Given the description of an element on the screen output the (x, y) to click on. 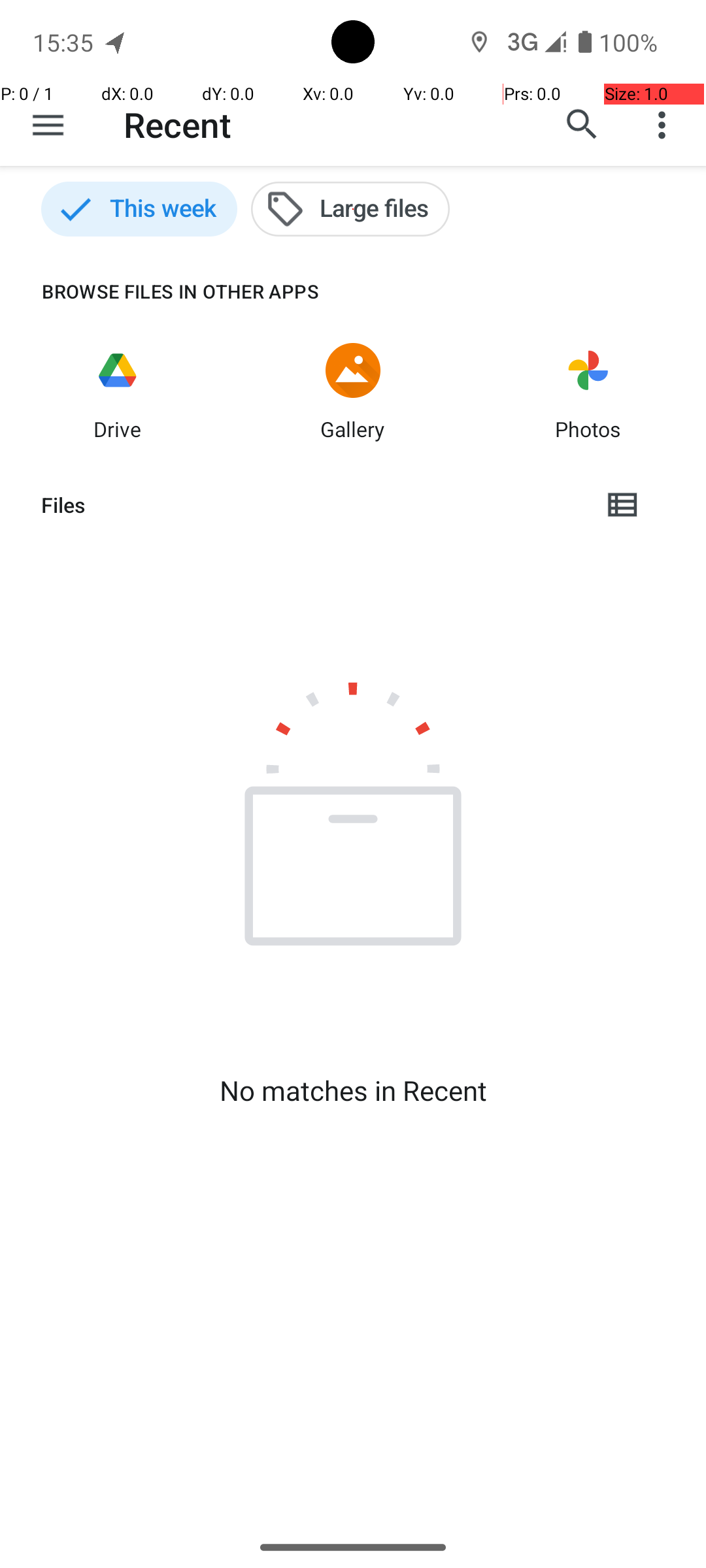
BROWSE FILES IN OTHER APPS Element type: android.widget.TextView (159, 291)
No matches in Recent Element type: android.widget.TextView (352, 1089)
